Given the description of an element on the screen output the (x, y) to click on. 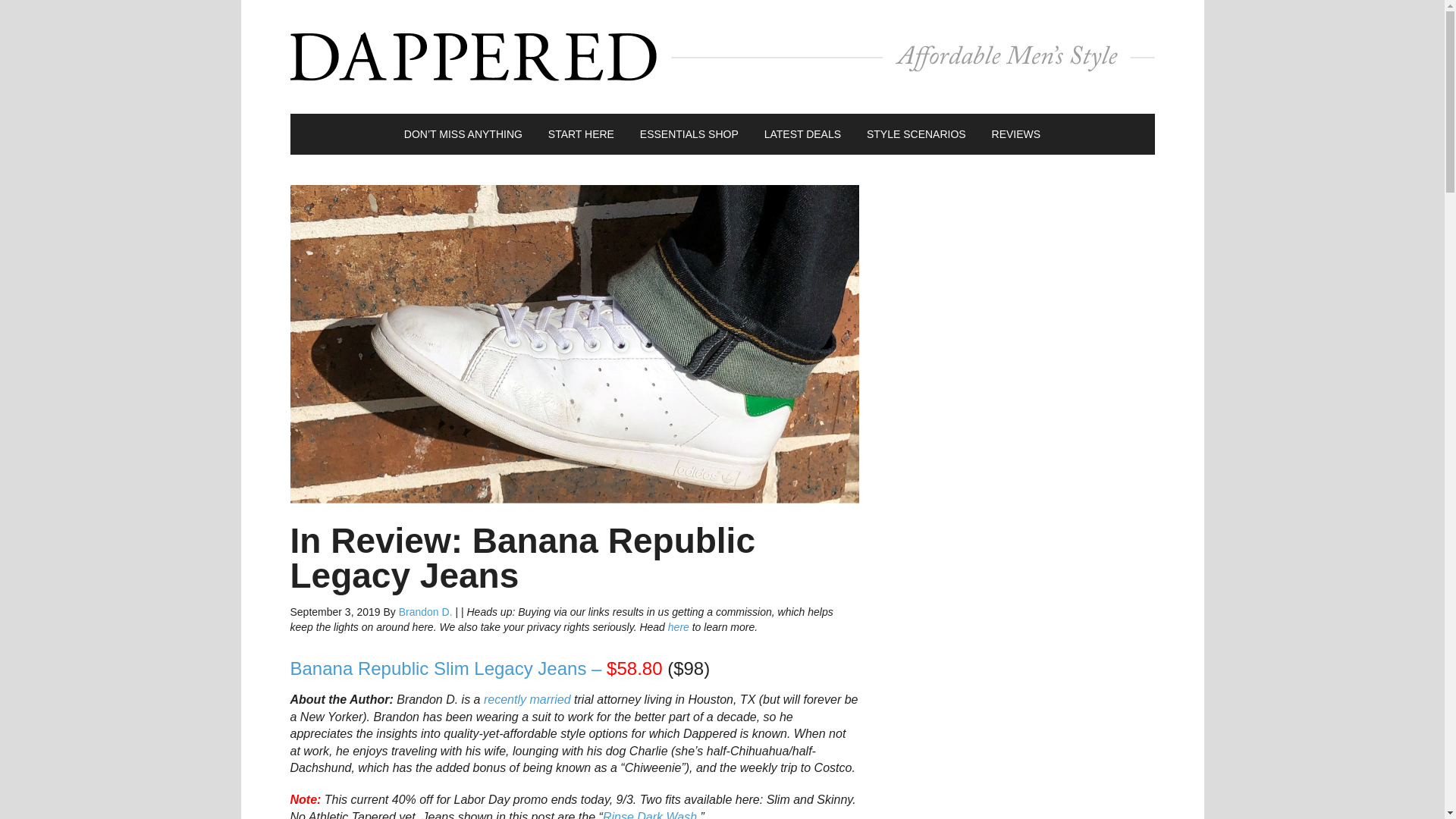
START HERE (581, 133)
recently married (526, 698)
LATEST DEALS (801, 133)
ESSENTIALS SHOP (688, 133)
Dappered (721, 56)
REVIEWS (1015, 133)
STYLE SCENARIOS (916, 133)
Brandon D. (425, 612)
Rinse Dark Wash (649, 814)
here (678, 626)
